Given the description of an element on the screen output the (x, y) to click on. 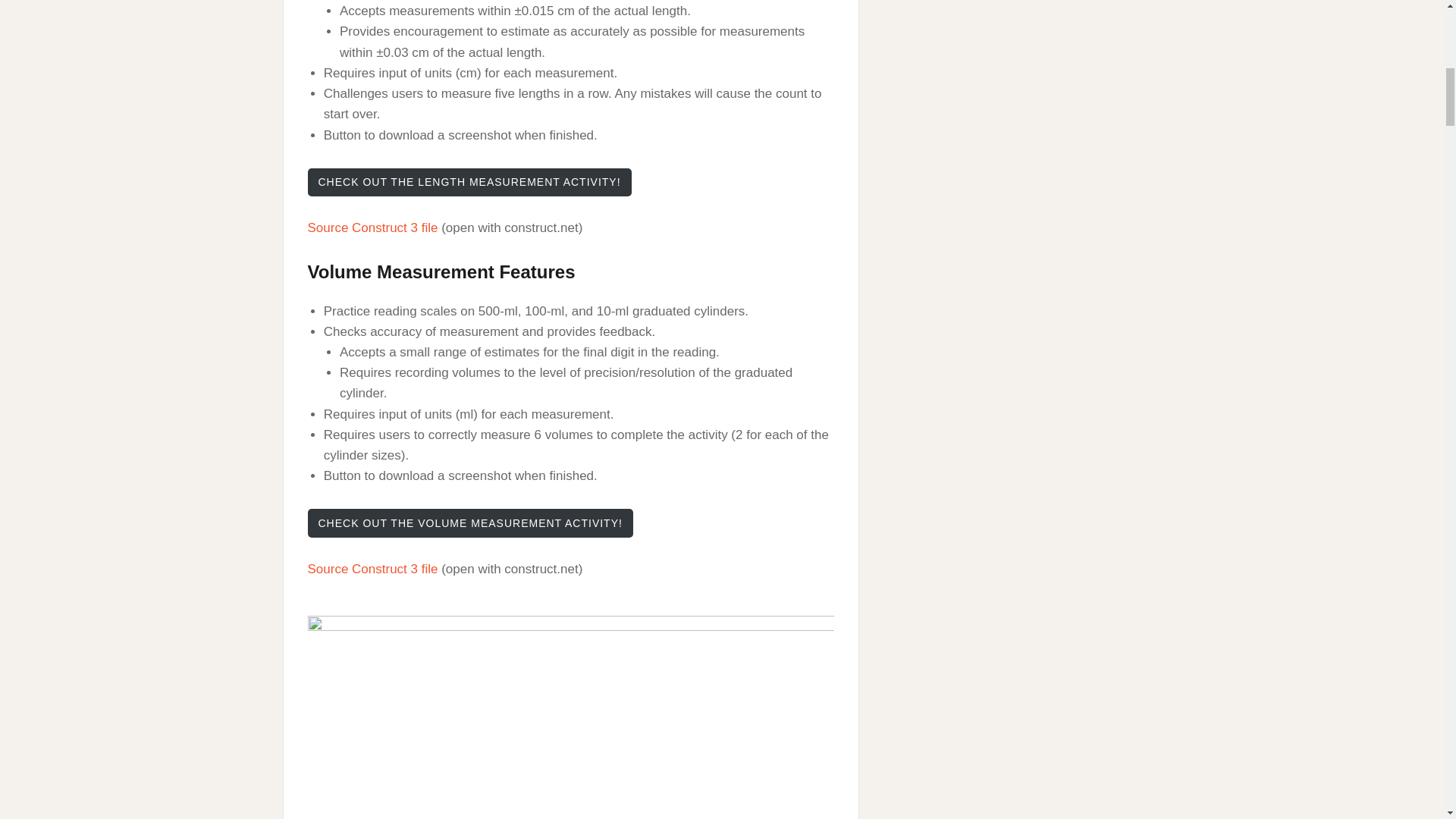
CHECK OUT THE LENGTH MEASUREMENT ACTIVITY! (469, 182)
CHECK OUT THE VOLUME MEASUREMENT ACTIVITY! (470, 522)
Source Construct 3 file (372, 227)
Source Construct 3 file (372, 568)
